Given the description of an element on the screen output the (x, y) to click on. 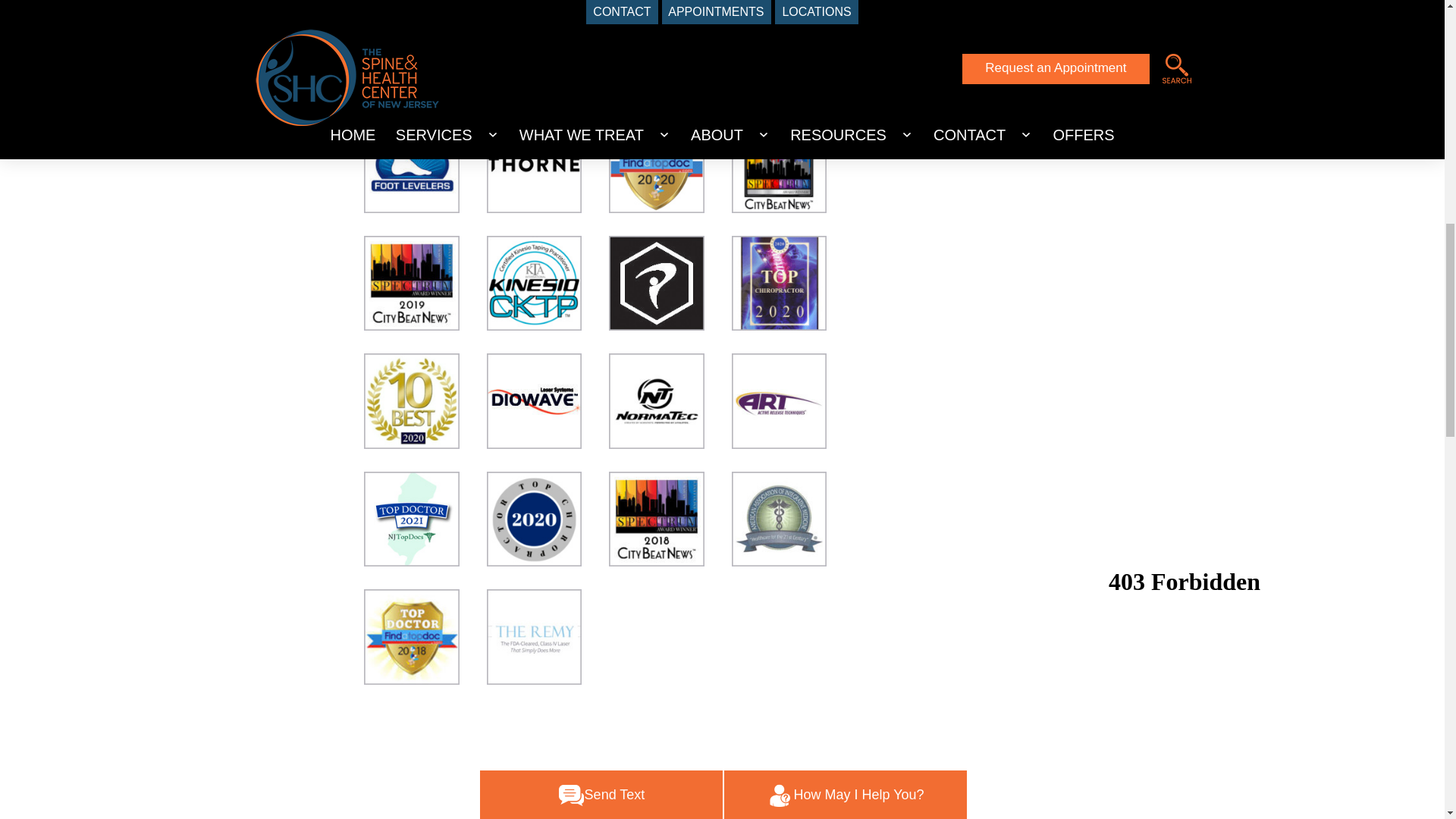
Normatec (656, 400)
Top Chiropractor 2020 (779, 283)
Thorne (534, 164)
Active Release Tecnnique (779, 400)
City Beat News 2020 (779, 164)
Titleist Performance Institute (656, 283)
Foot Levelers (412, 164)
Top Doctor 2021 Nj Top Docs (412, 519)
City Beat News 2019 (412, 283)
Kinesio CKTP (534, 283)
Top Chiropractor 2020 (534, 519)
10 Best 2020 (412, 400)
Laser Systems Diowave (534, 400)
Top Doctor 2020 (656, 164)
